Given the description of an element on the screen output the (x, y) to click on. 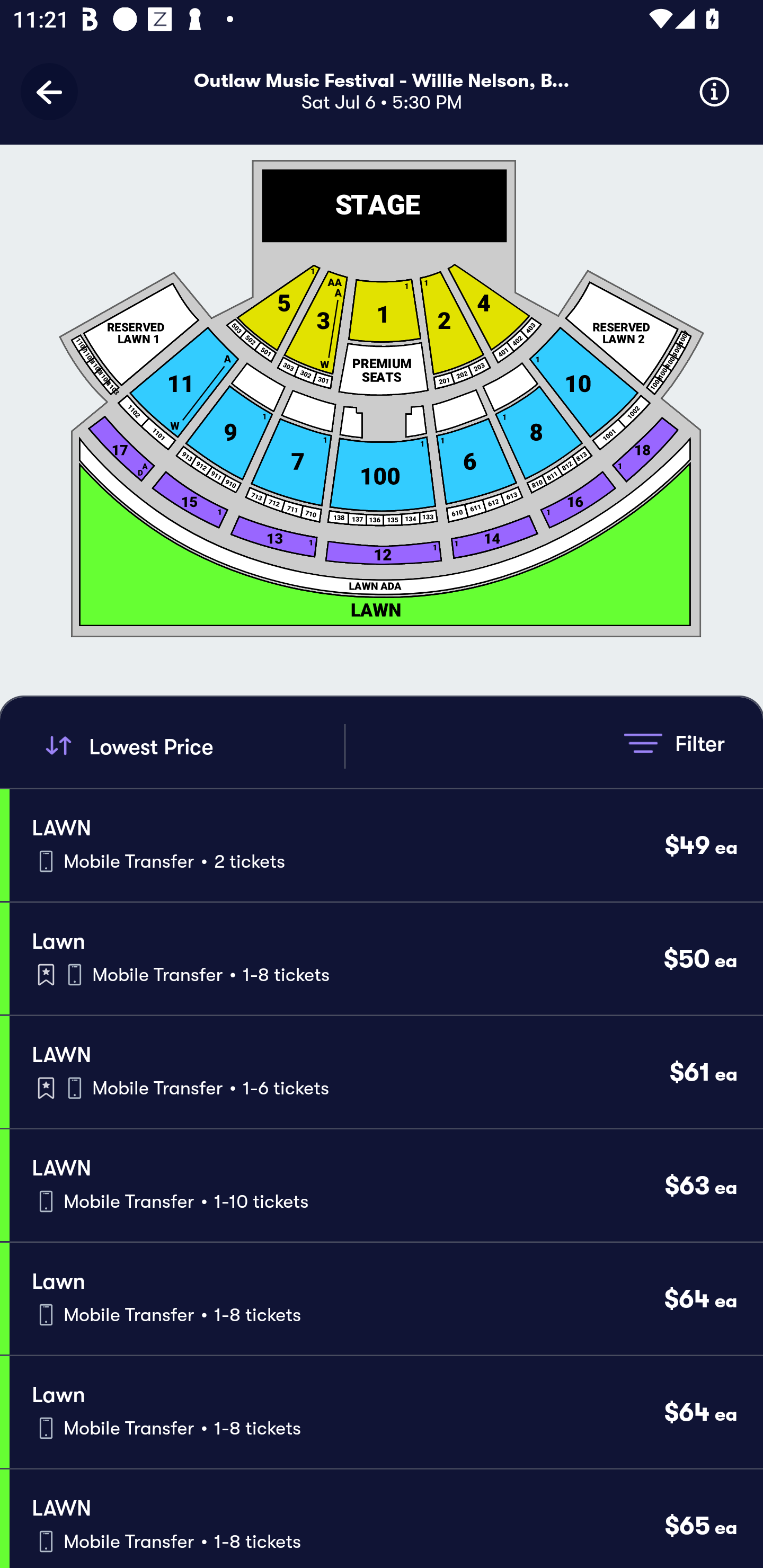
Lowest Price (191, 746)
Filter (674, 743)
LAWN Mobile Transfer • 2 tickets $49 ea (386, 844)
Lawn Mobile Transfer • 1-8 tickets $50 ea (386, 958)
LAWN Mobile Transfer • 1-6 tickets $61 ea (386, 1071)
LAWN Mobile Transfer • 1-10 tickets $63 ea (386, 1184)
Lawn Mobile Transfer • 1-8 tickets $64 ea (386, 1298)
Lawn Mobile Transfer • 1-8 tickets $64 ea (386, 1411)
LAWN Mobile Transfer • 1-8 tickets $65 ea (386, 1518)
